Given the description of an element on the screen output the (x, y) to click on. 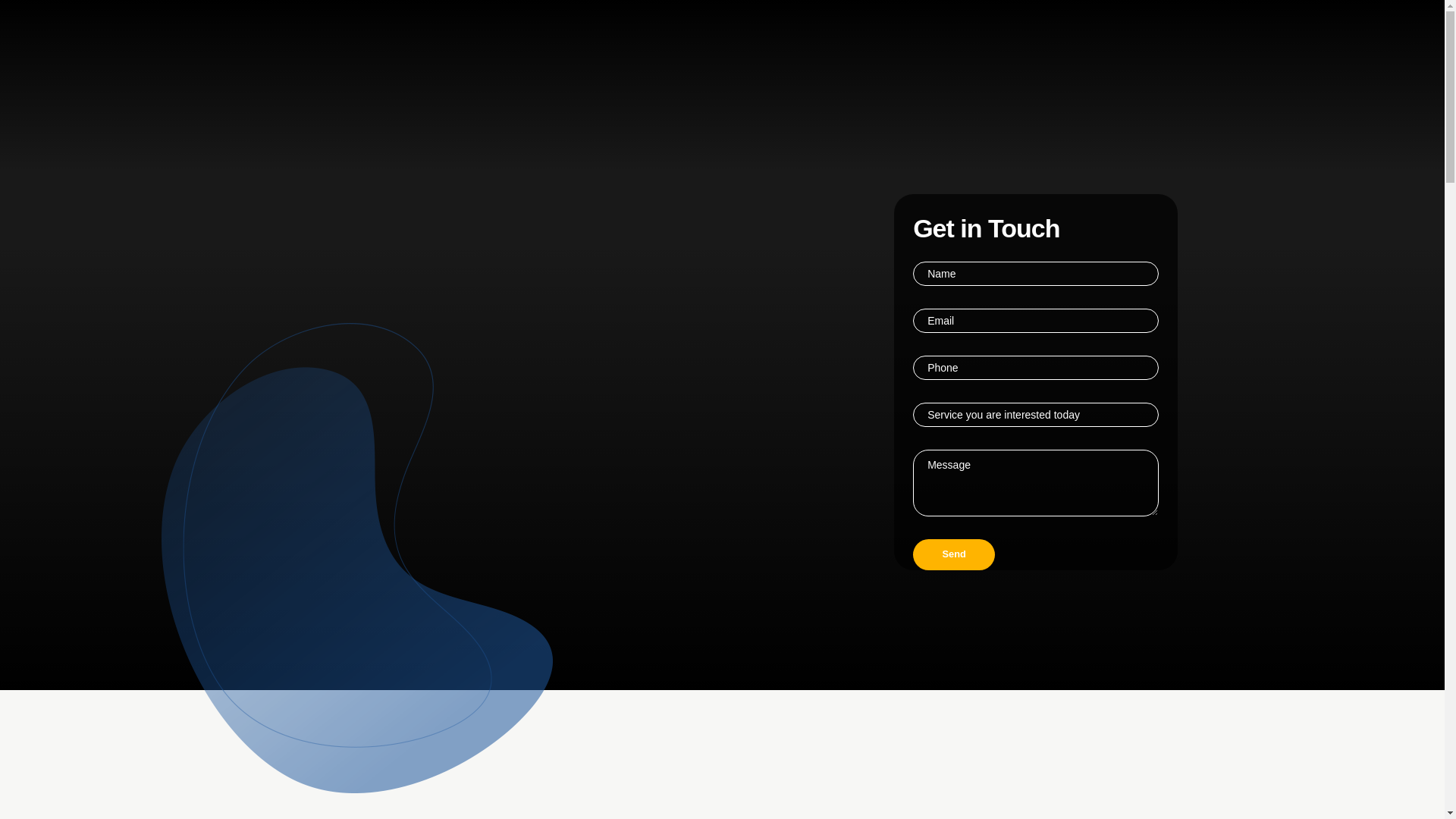
Send (953, 554)
Send (953, 554)
